Given the description of an element on the screen output the (x, y) to click on. 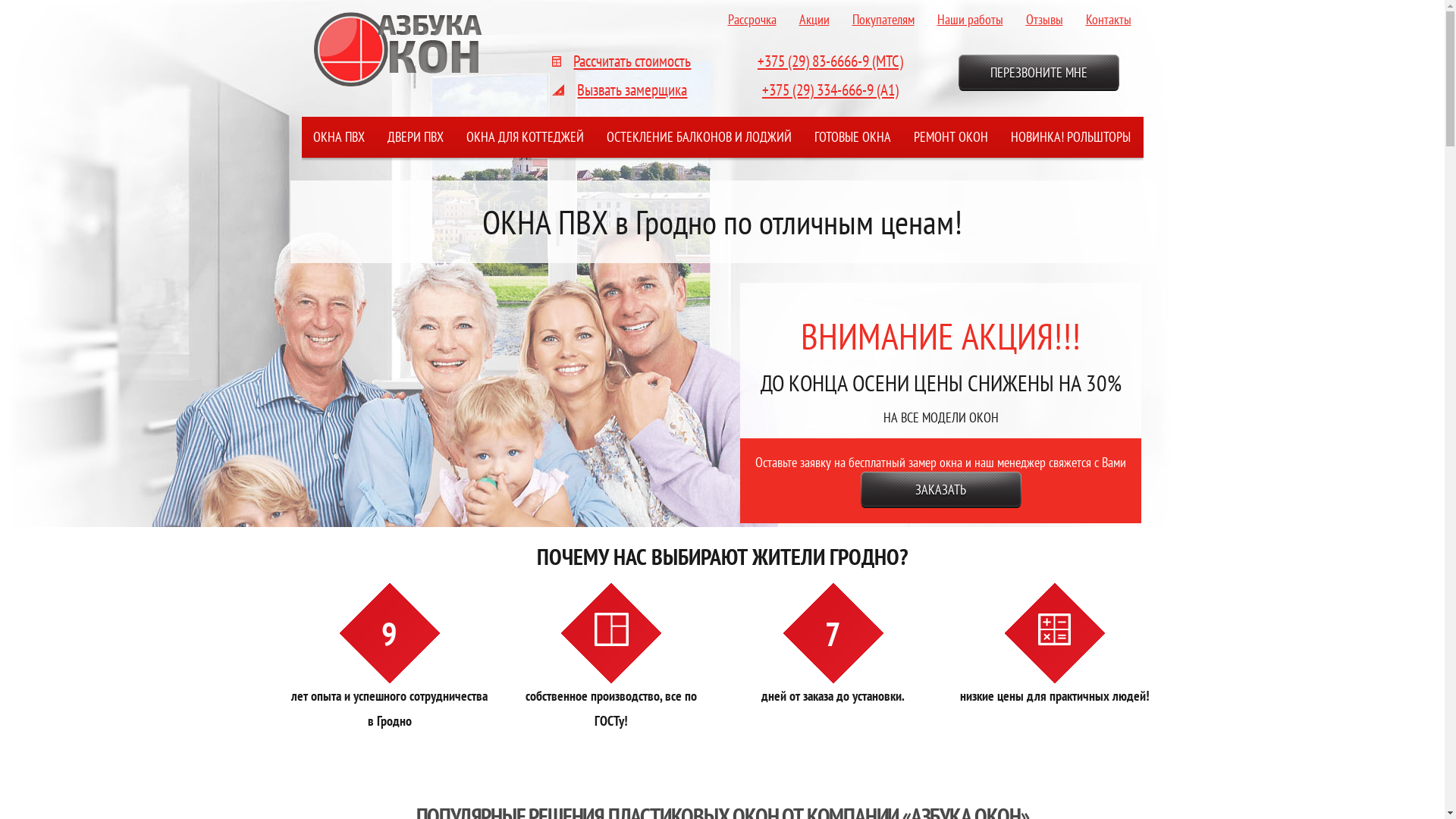
+375 (29) 334-666-9 (A1) Element type: text (830, 89)
